Given the description of an element on the screen output the (x, y) to click on. 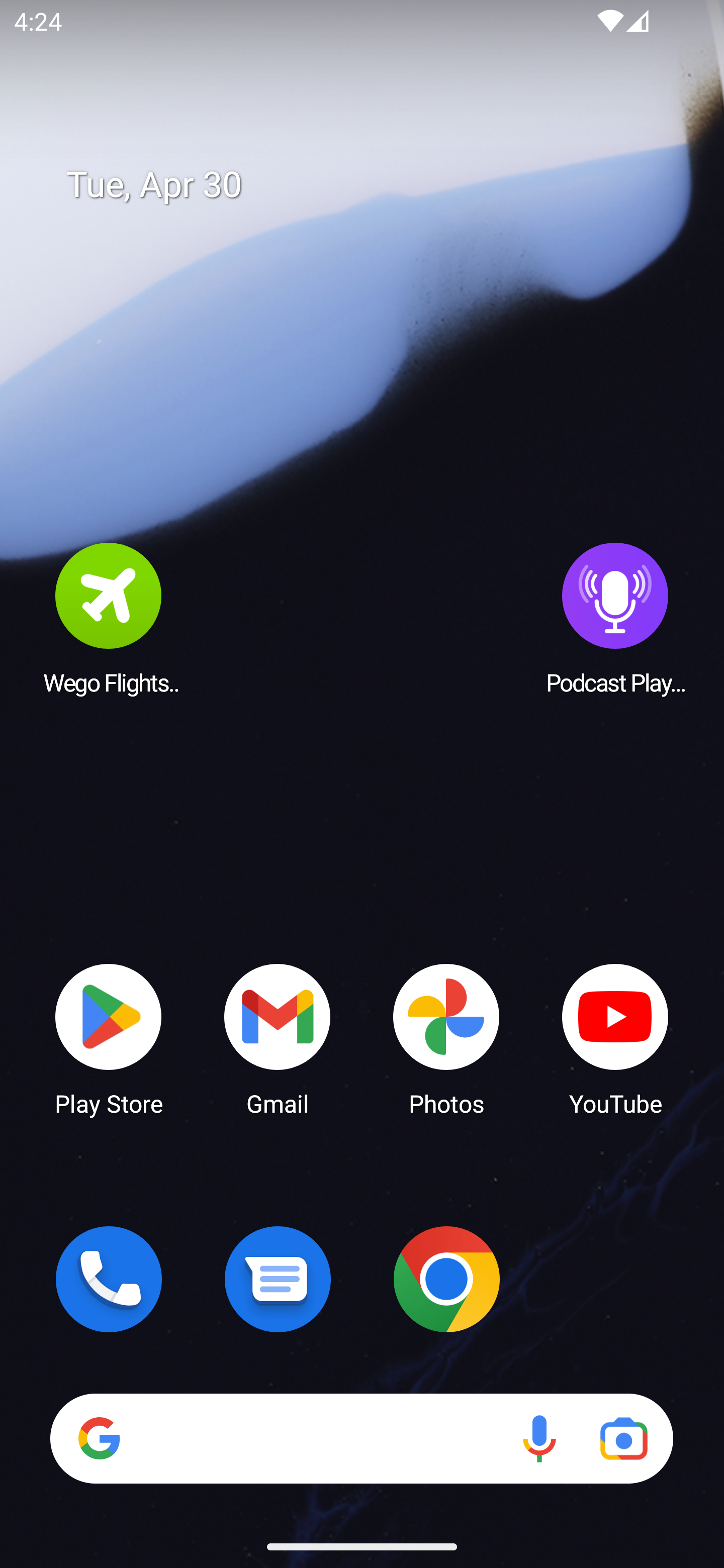
Tue, Apr 30 (375, 184)
Wego Flights & Hotels (108, 617)
Podcast Player (615, 617)
Play Store (108, 1038)
Gmail (277, 1038)
Photos (445, 1038)
YouTube (615, 1038)
Phone (108, 1279)
Messages (277, 1279)
Chrome (446, 1279)
Voice search (539, 1438)
Google Lens (623, 1438)
